Given the description of an element on the screen output the (x, y) to click on. 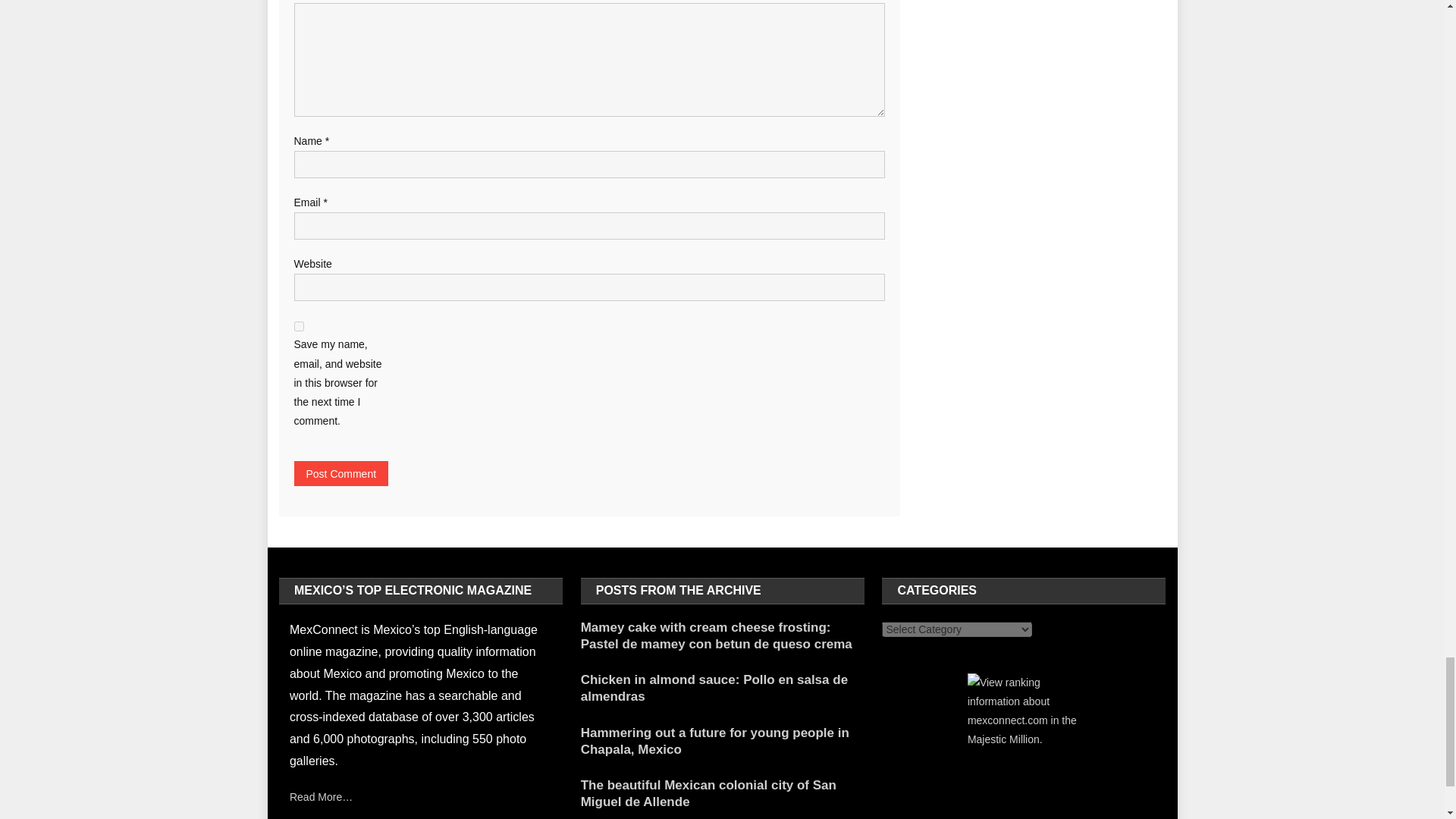
yes (299, 326)
Post Comment (341, 473)
